Given the description of an element on the screen output the (x, y) to click on. 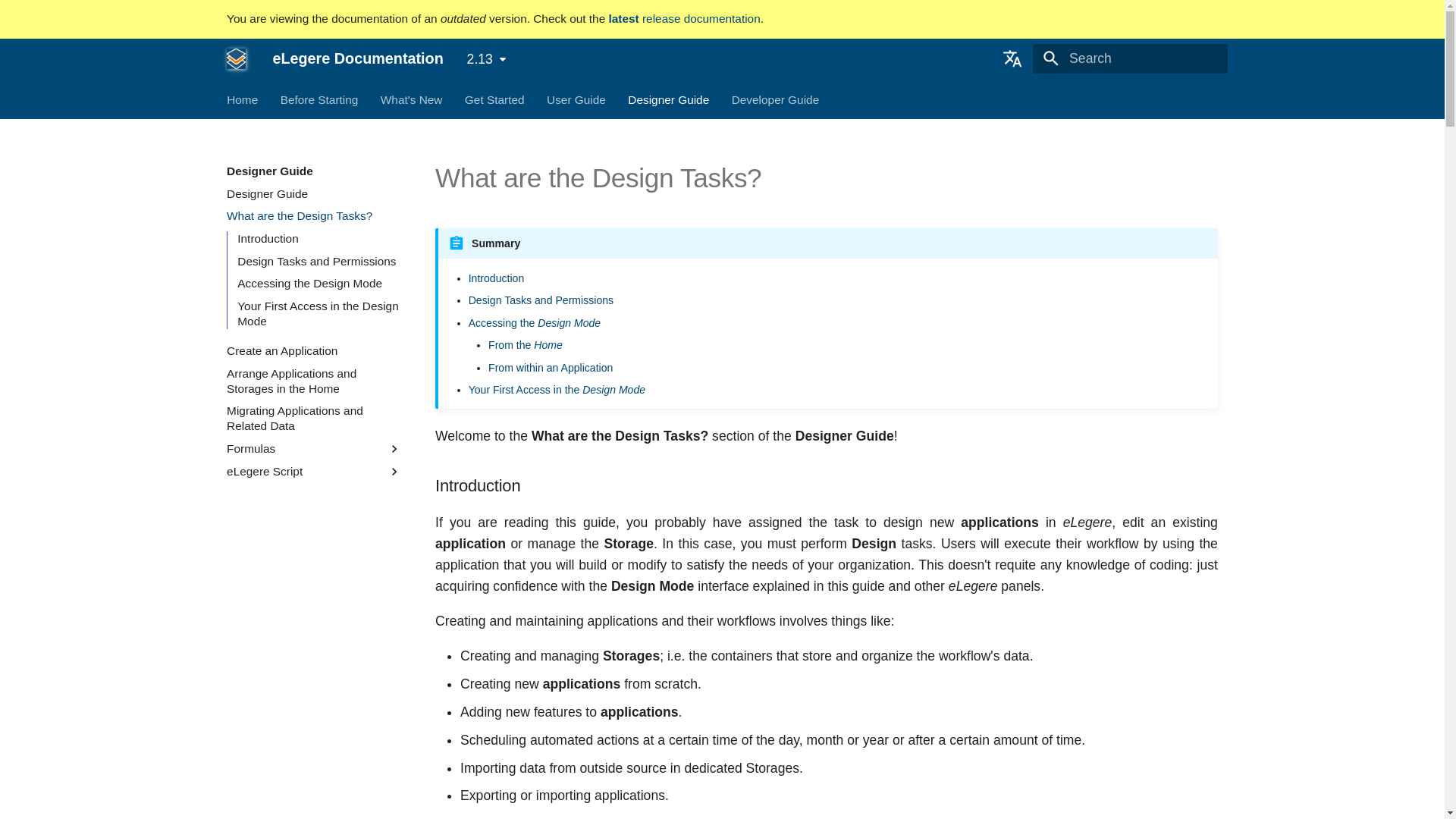
eLegere Documentation (235, 58)
latest release documentation (684, 18)
2.13 (486, 59)
Before Starting (319, 99)
User Guide (576, 99)
Home (242, 99)
Designer Guide (668, 99)
Developer Guide (775, 99)
Get Started (494, 99)
What's New (411, 99)
